Given the description of an element on the screen output the (x, y) to click on. 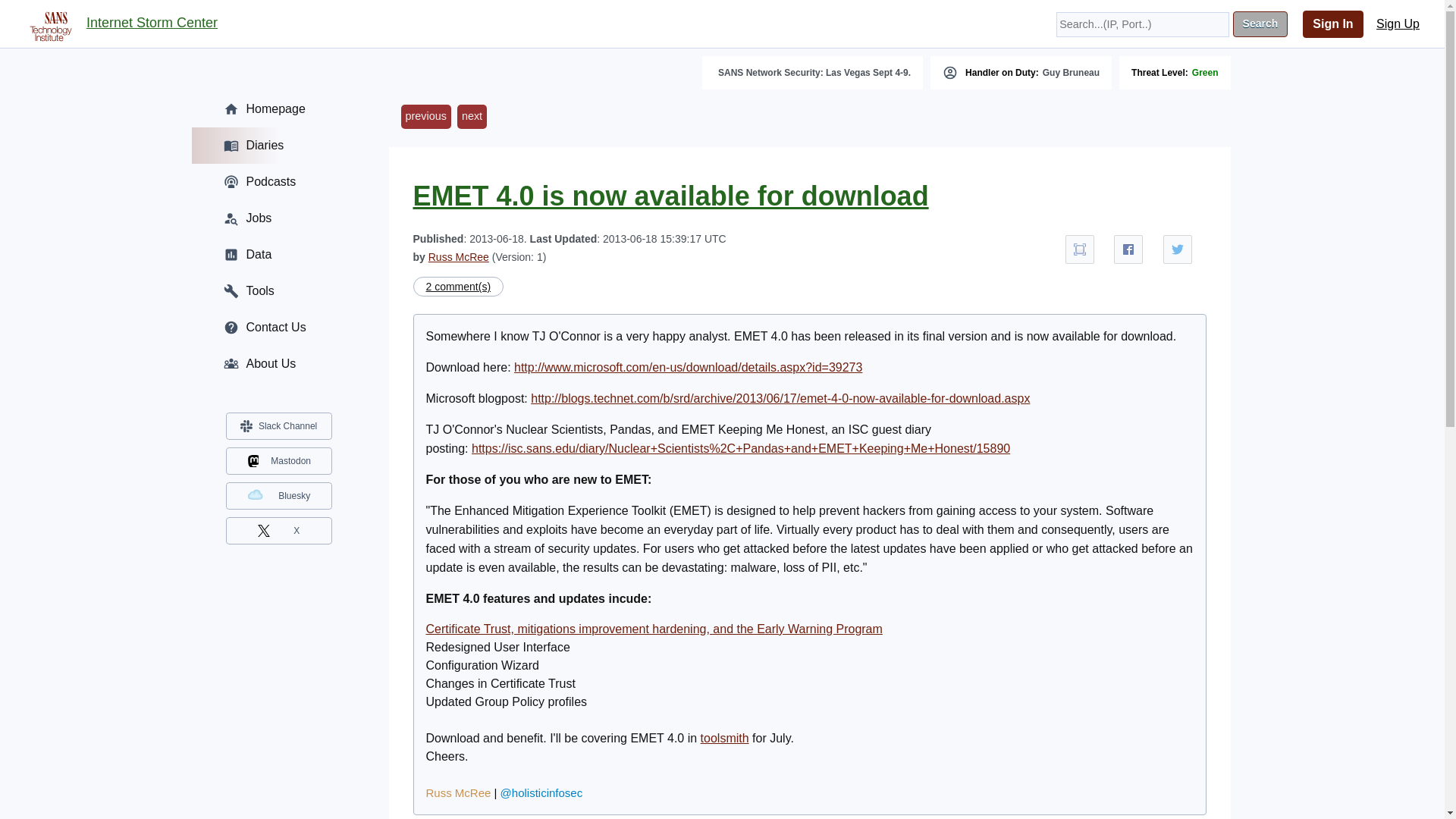
next (471, 116)
SANS Network Security: Las Vegas Sept 4-9. (814, 72)
Jobs (277, 217)
Homepage (277, 108)
Russ McRee (459, 792)
Data (277, 254)
Share on Twitter (1177, 249)
Sign Up (1398, 24)
Full Screen (1079, 249)
Russ McRee (458, 256)
